Given the description of an element on the screen output the (x, y) to click on. 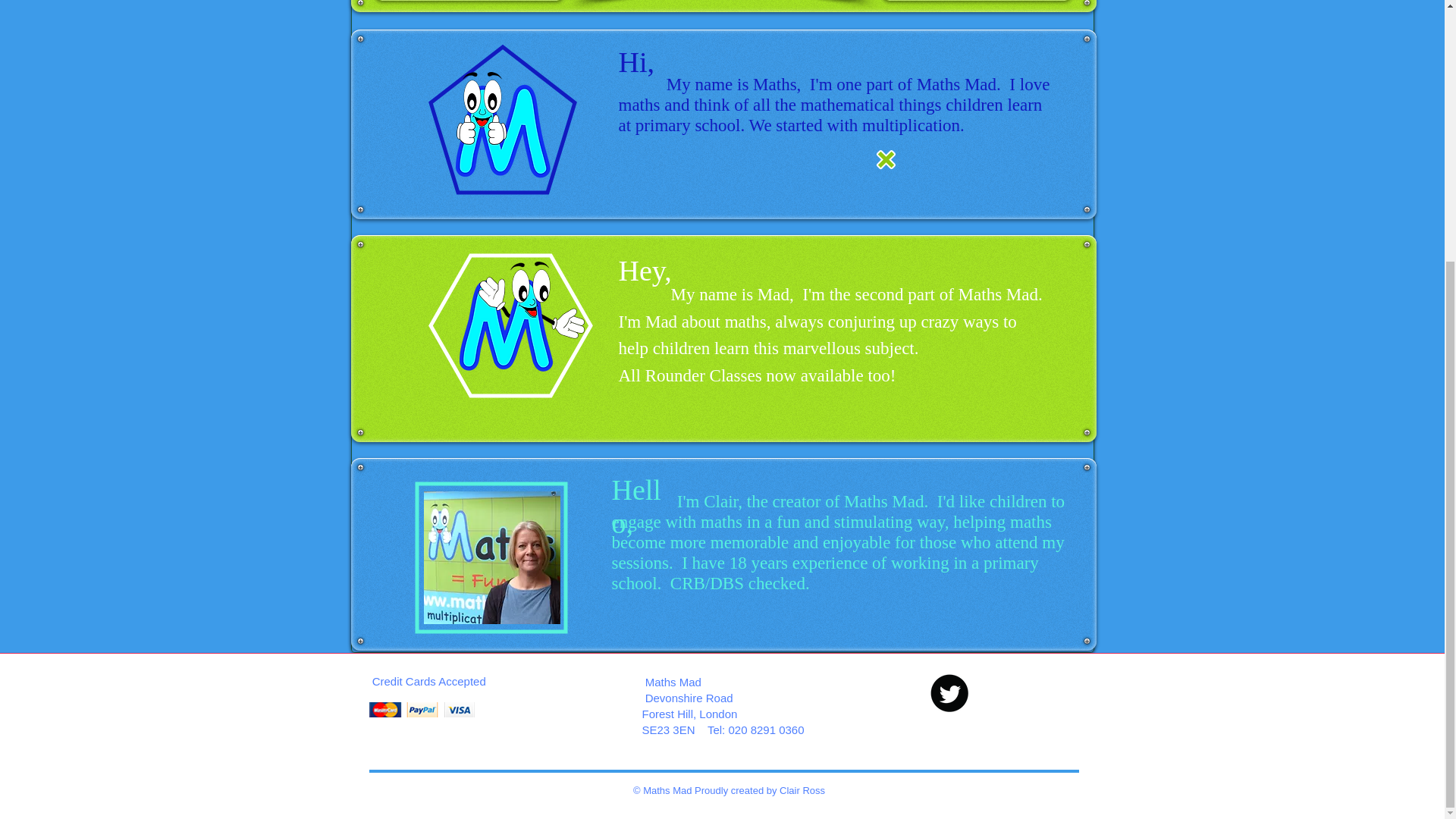
Fun Maths (522, 316)
Love Maths (502, 125)
Maths Tutor (491, 557)
